Given the description of an element on the screen output the (x, y) to click on. 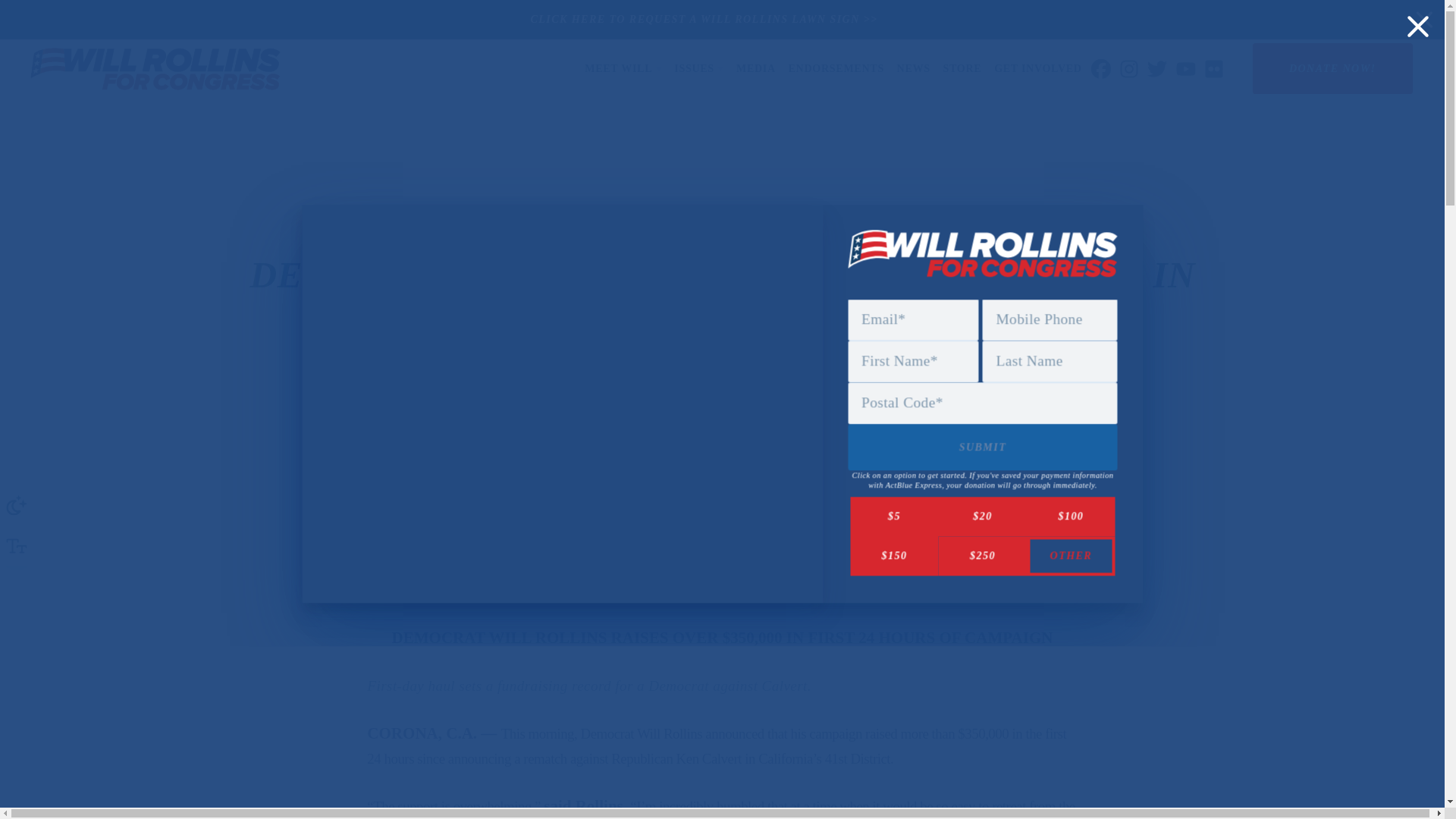
Submit (983, 447)
OTHER (1070, 555)
Submit (983, 449)
Last Name (1049, 361)
Mobile Phone (1049, 319)
MEET WILL (622, 68)
